Given the description of an element on the screen output the (x, y) to click on. 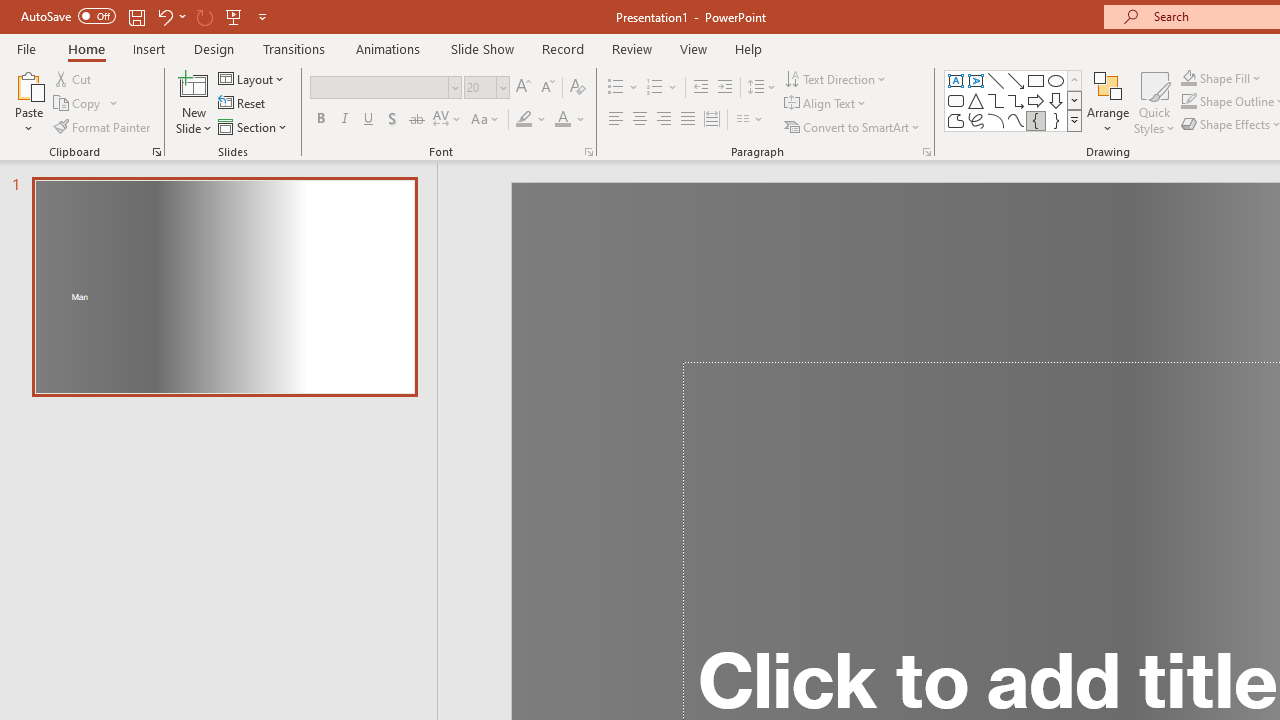
Columns (750, 119)
Justify (687, 119)
Italic (344, 119)
Reset (243, 103)
Line Spacing (762, 87)
Distributed (712, 119)
Oval (1055, 80)
Connector: Elbow Arrow (1016, 100)
Arrange (1108, 102)
Rectangle (1035, 80)
